Given the description of an element on the screen output the (x, y) to click on. 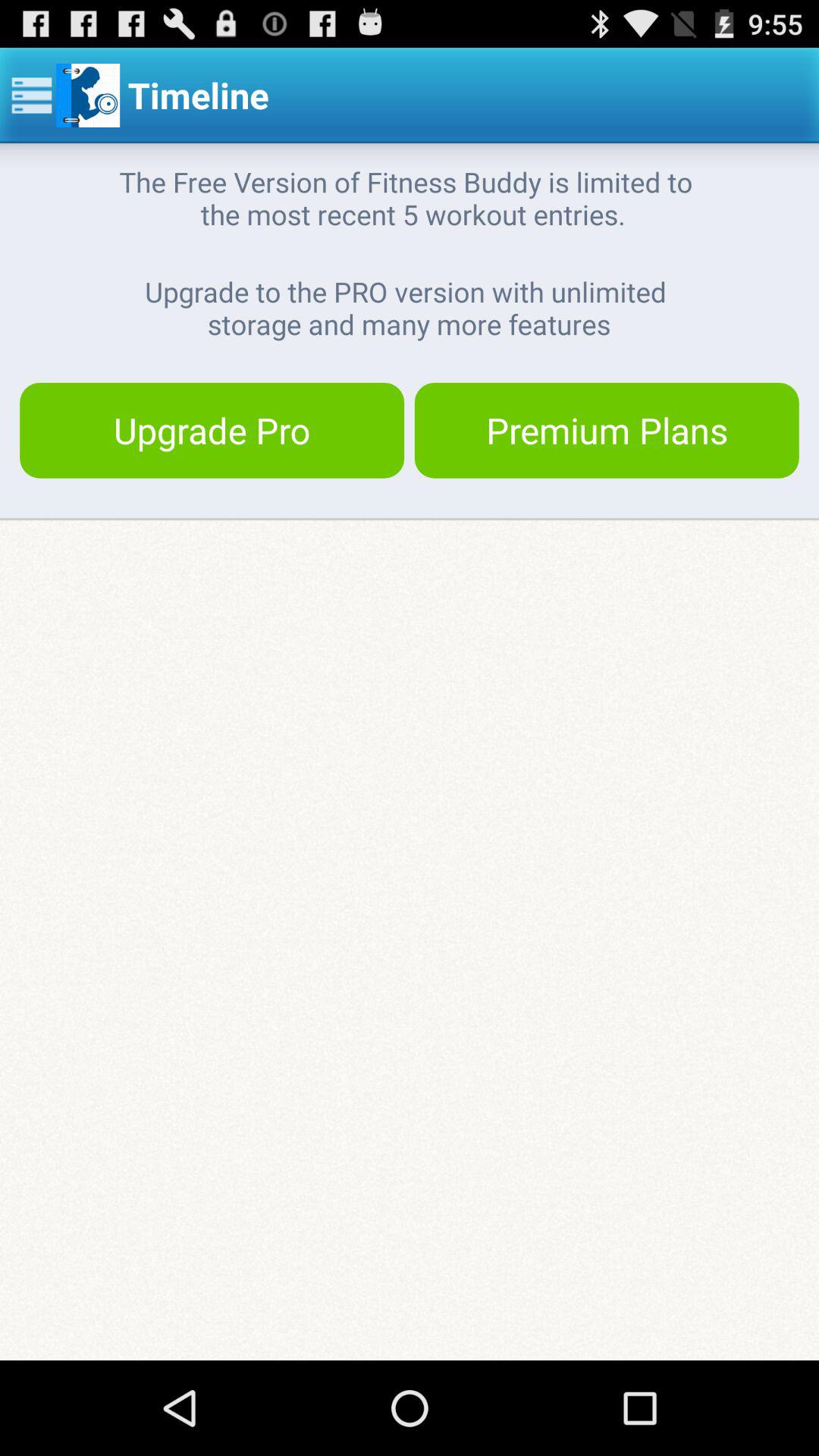
turn on item below upgrade to the app (606, 430)
